Given the description of an element on the screen output the (x, y) to click on. 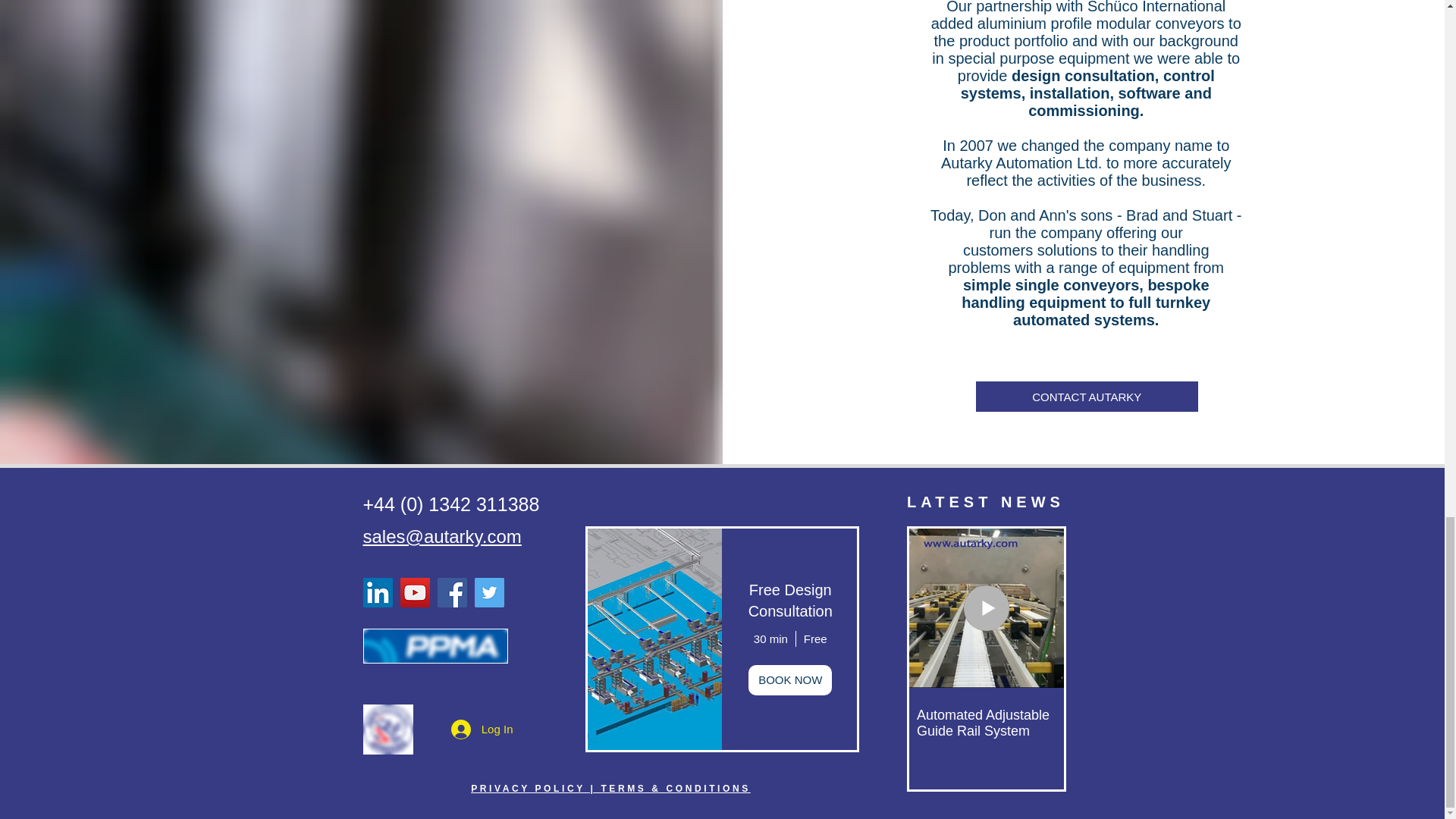
Automated Adjustable Guide Rail System (985, 723)
Log In (482, 728)
CONTACT AUTARKY (1086, 396)
LATEST NEWS (985, 501)
BOOK NOW (789, 680)
